Given the description of an element on the screen output the (x, y) to click on. 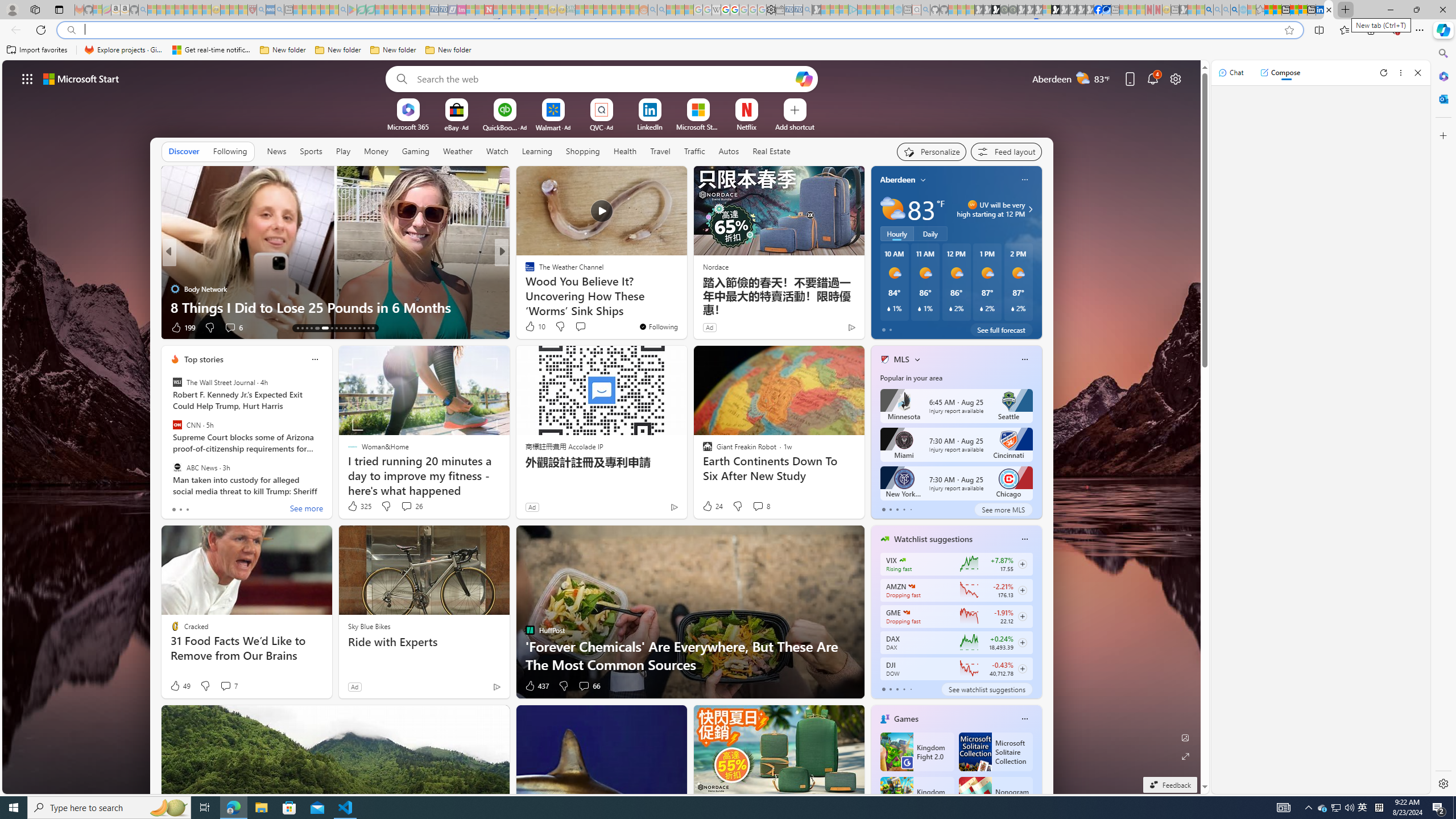
View comments 10 Comment (585, 327)
ABC News (176, 466)
Traffic (694, 151)
Real Estate (771, 151)
AutomationID: tab-18 (323, 328)
View comments 26 Comment (411, 505)
AutomationID: tab-26 (363, 328)
10 Like (534, 326)
AutomationID: tab-20 (336, 328)
